Given the description of an element on the screen output the (x, y) to click on. 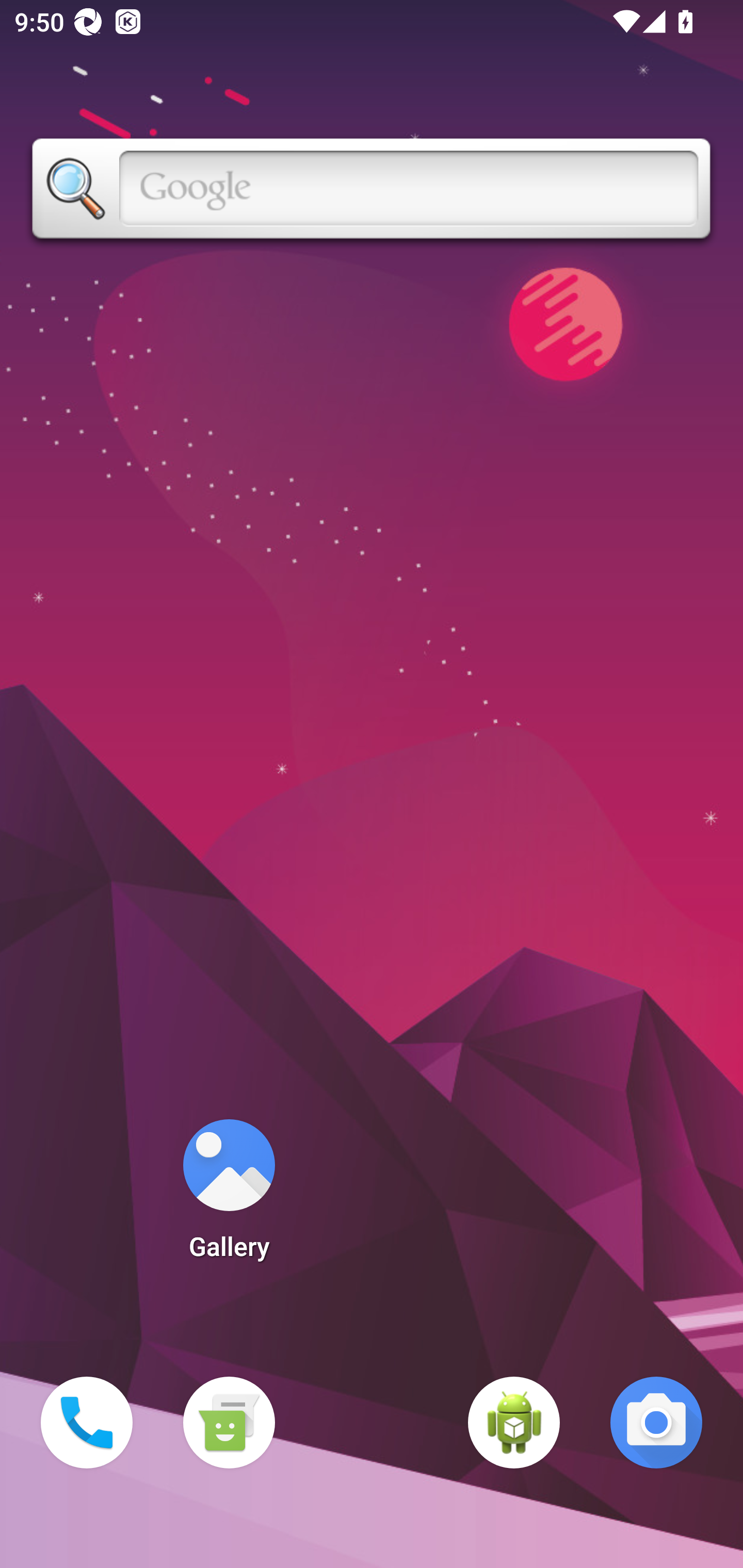
Gallery (228, 1195)
Phone (86, 1422)
Messaging (228, 1422)
WebView Browser Tester (513, 1422)
Camera (656, 1422)
